Given the description of an element on the screen output the (x, y) to click on. 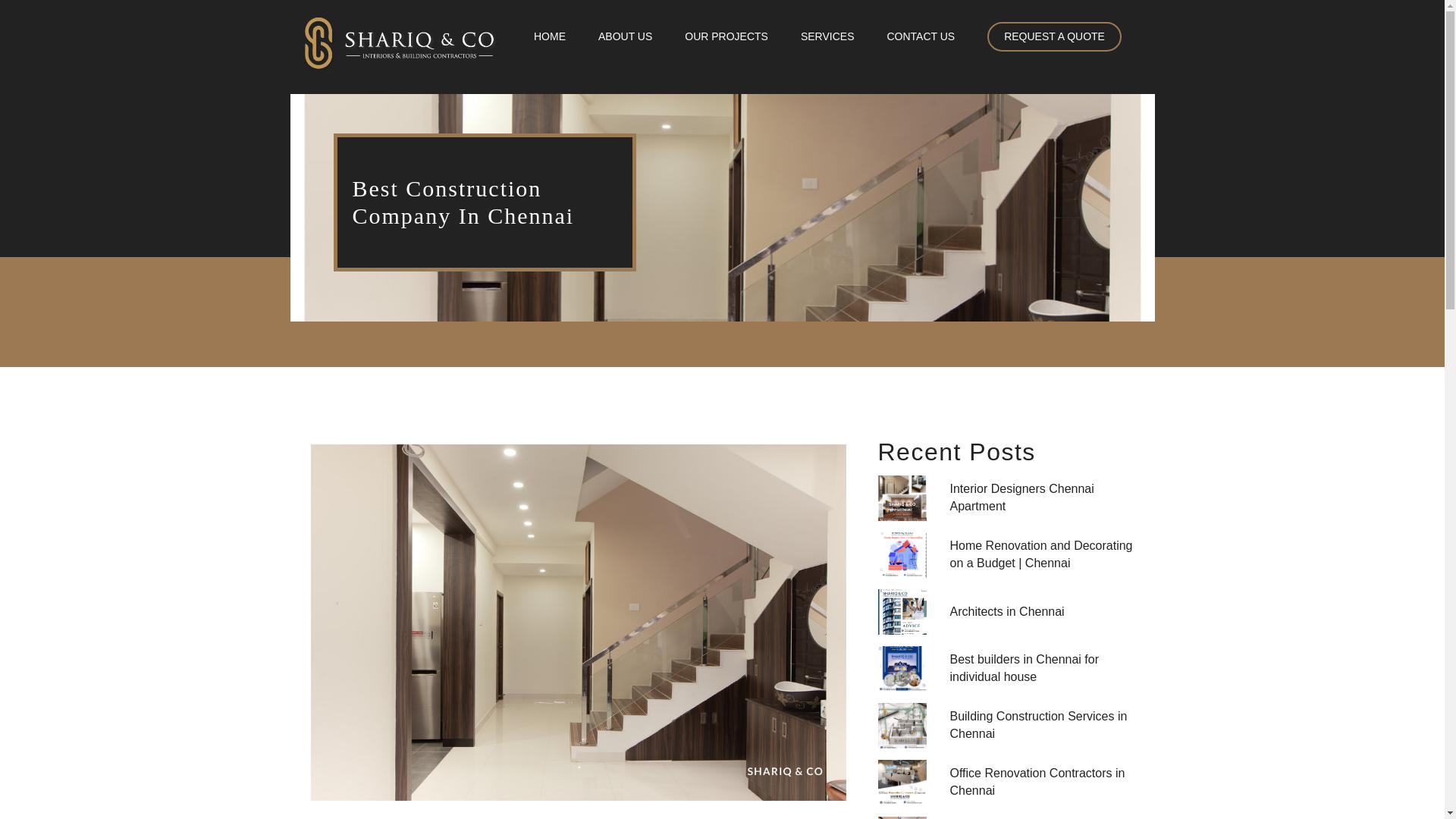
SERVICES (827, 36)
REQUEST A QUOTE (1054, 36)
Interior Designers Chennai Apartment (1009, 497)
Best builders in Chennai for individual house (1009, 668)
OUR PROJECTS (726, 36)
Building Construction Services in Chennai (1009, 725)
ABOUT US (625, 36)
CONTACT US (920, 36)
Architects in Chennai (1009, 611)
HOME (550, 36)
Office Renovation Contractors in Chennai (1009, 782)
